Given the description of an element on the screen output the (x, y) to click on. 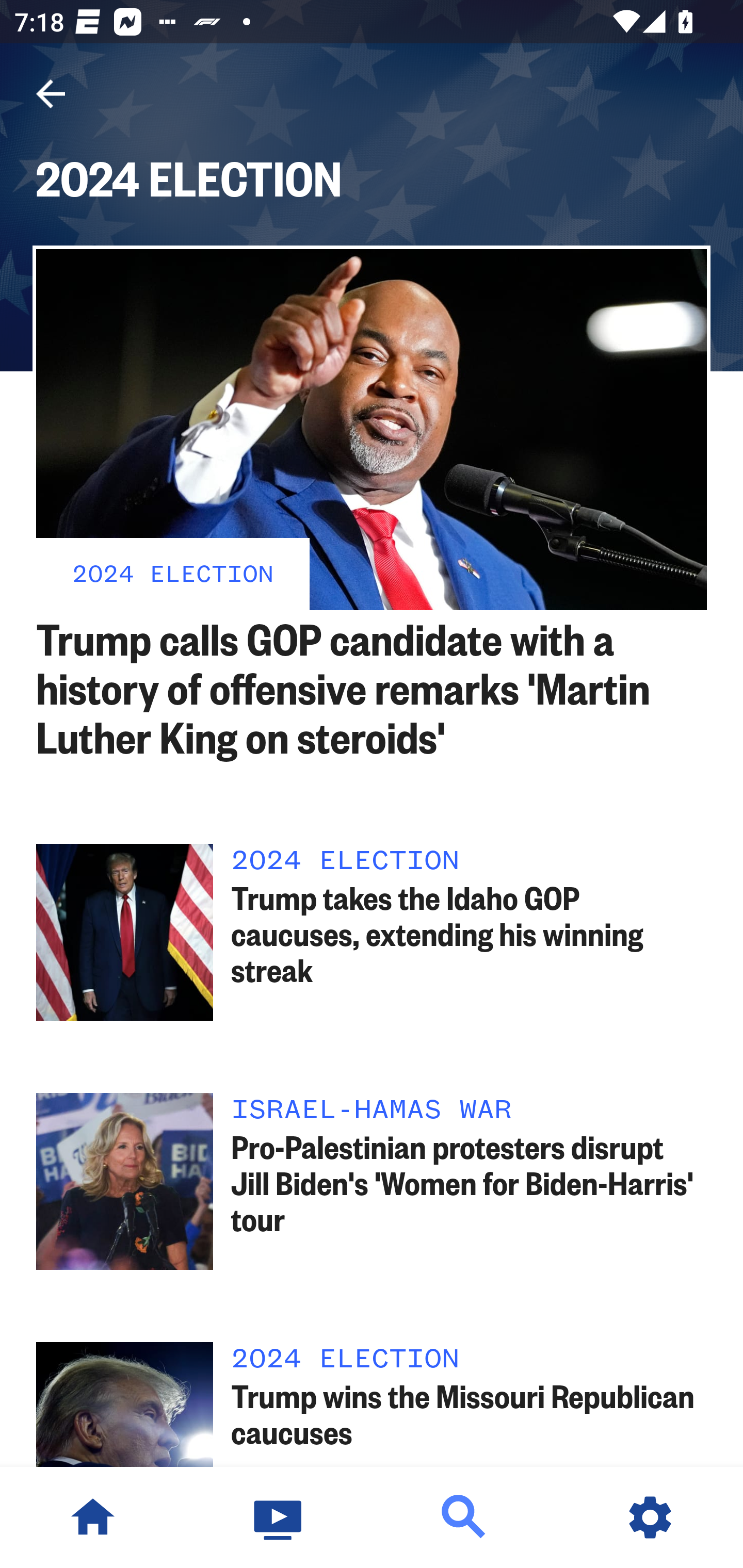
Navigate up (50, 93)
NBC News Home (92, 1517)
Watch (278, 1517)
Settings (650, 1517)
